Given the description of an element on the screen output the (x, y) to click on. 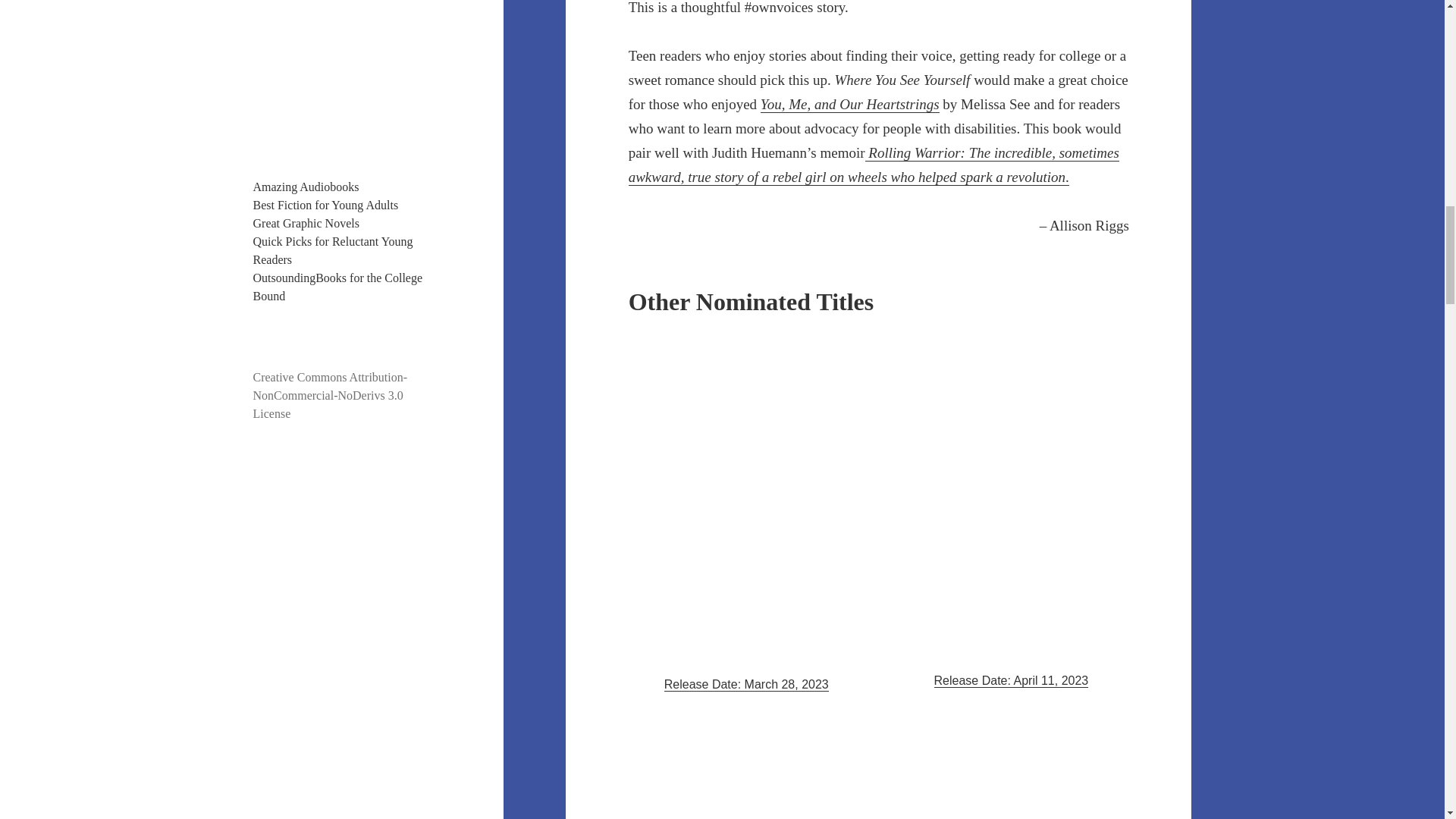
You, Me, and Our Heartstrings (849, 104)
Great Graphic Novels (306, 223)
Quick Picks for Reluctant Young Readers (333, 250)
OutsoundingBooks for the College Bound (338, 286)
Amazing Audiobooks (306, 186)
Best Fiction for Young Adults (325, 205)
Release Date: March 28, 2023 (745, 684)
